Given the description of an element on the screen output the (x, y) to click on. 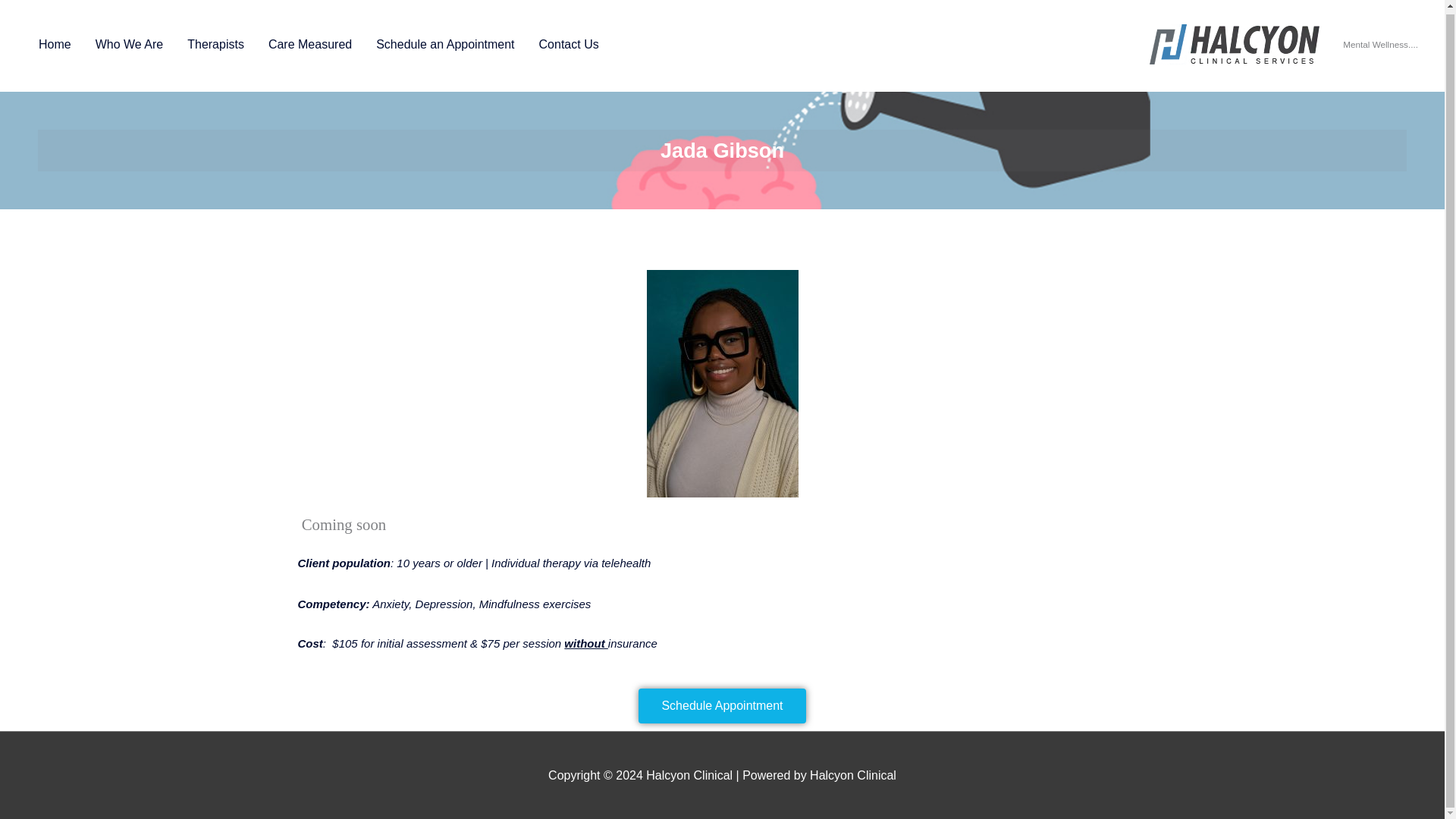
Who We Are (129, 43)
Care Measured (310, 43)
Therapists (215, 43)
Schedule an Appointment (444, 43)
Home (54, 43)
Contact Us (569, 43)
Schedule Appointment (722, 725)
